Given the description of an element on the screen output the (x, y) to click on. 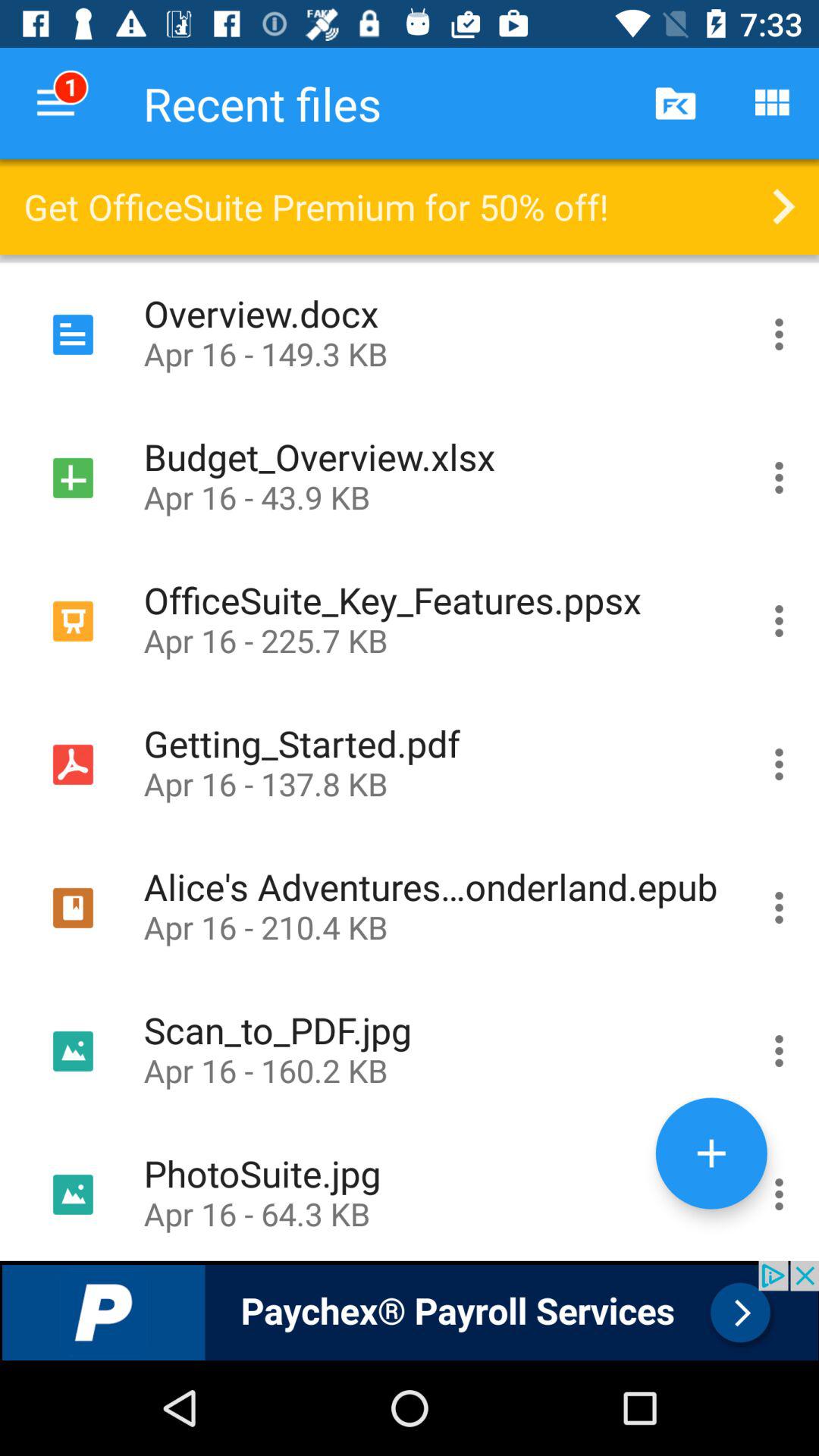
select pychex option (409, 1310)
